Given the description of an element on the screen output the (x, y) to click on. 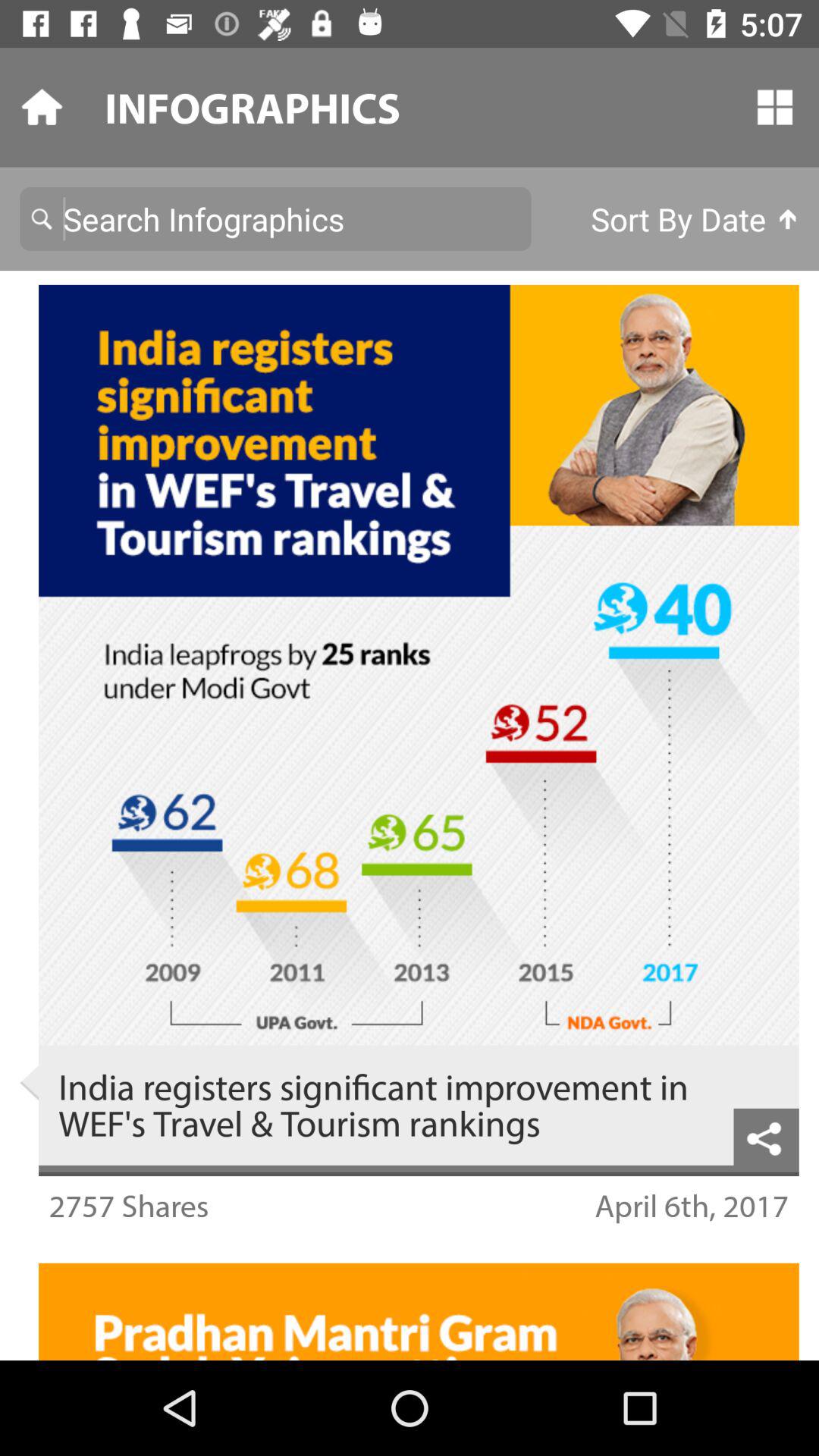
share the image (766, 1136)
